Given the description of an element on the screen output the (x, y) to click on. 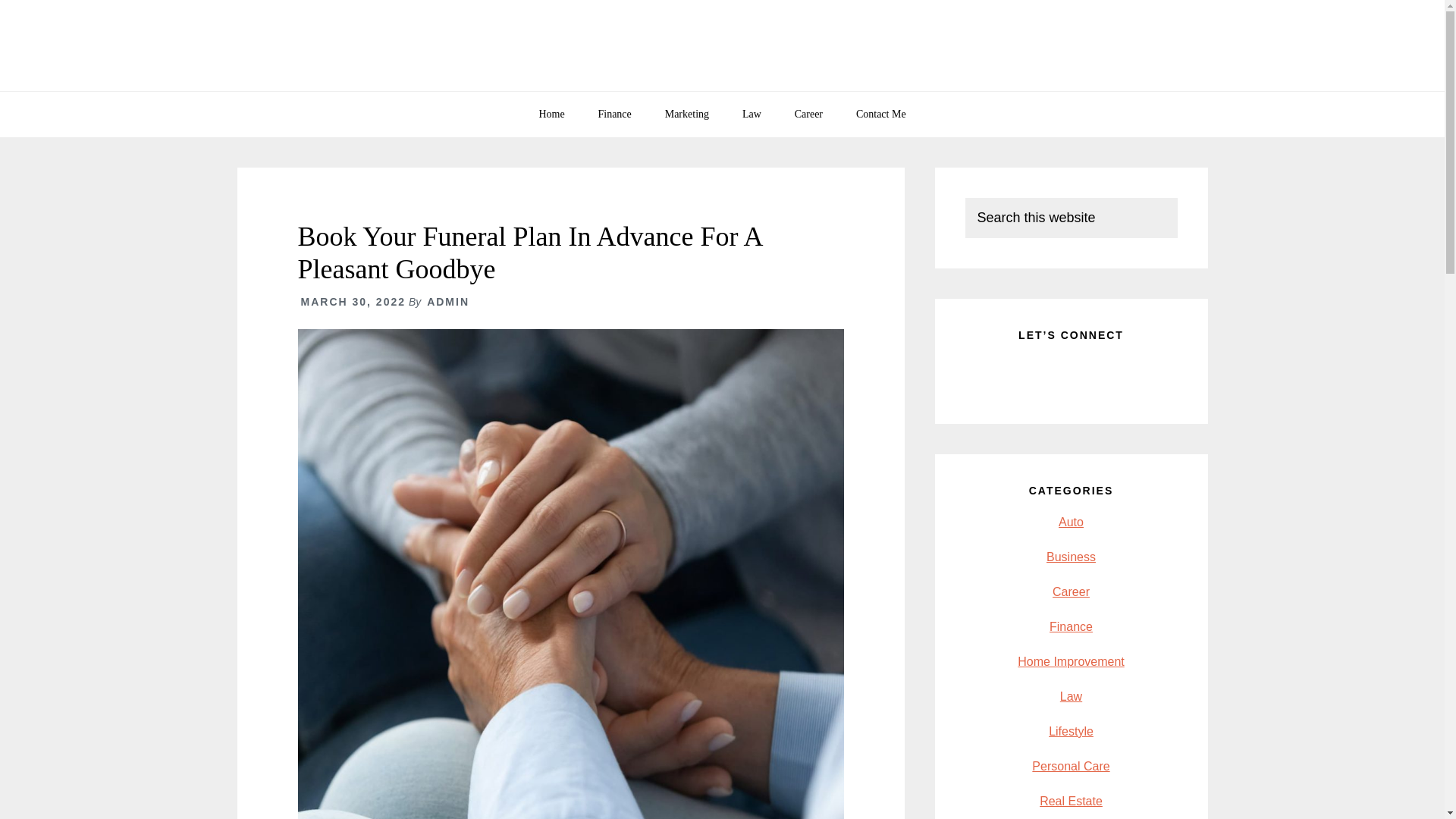
Finance (1071, 626)
Law (1070, 696)
Career (808, 114)
ADMIN (447, 301)
Business (1071, 556)
Bahaical (721, 45)
Personal Care (1070, 766)
Contact Me (881, 114)
